Given the description of an element on the screen output the (x, y) to click on. 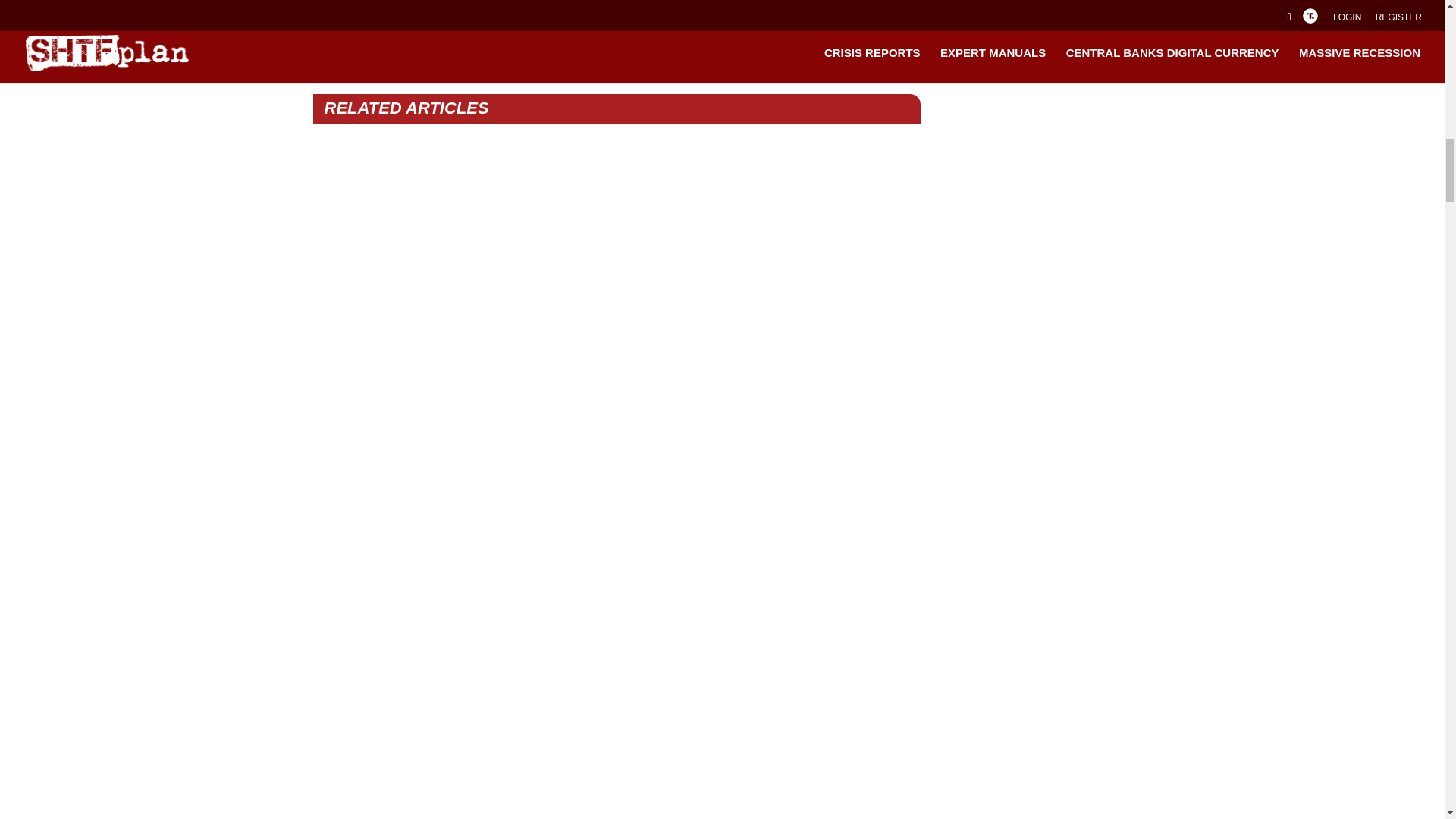
Subscribe Now! (765, 10)
Gold-Breakout-cf (468, 28)
Subscribe Now! (765, 10)
